Given the description of an element on the screen output the (x, y) to click on. 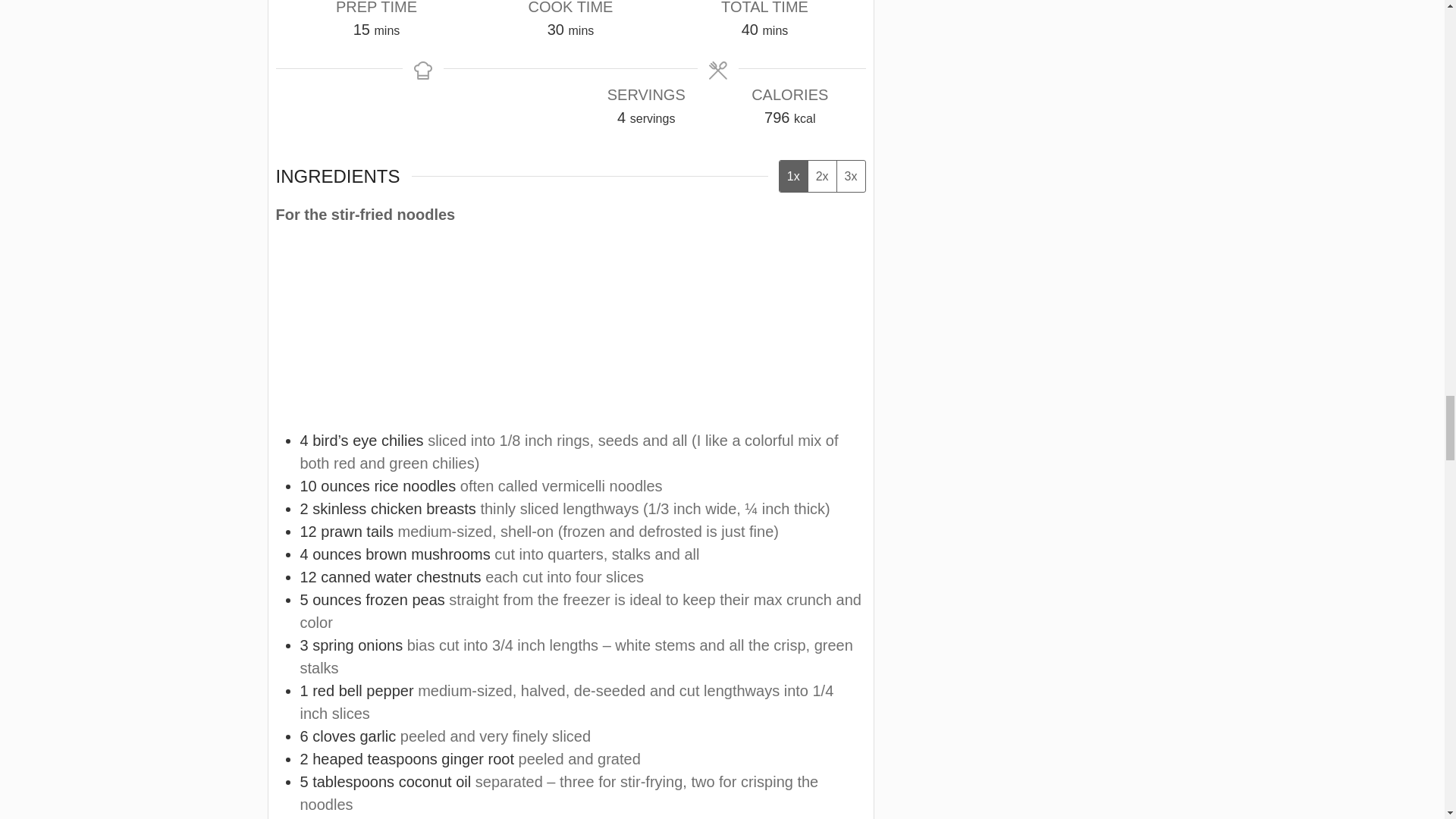
1x (793, 175)
3x (849, 175)
2x (821, 175)
